Given the description of an element on the screen output the (x, y) to click on. 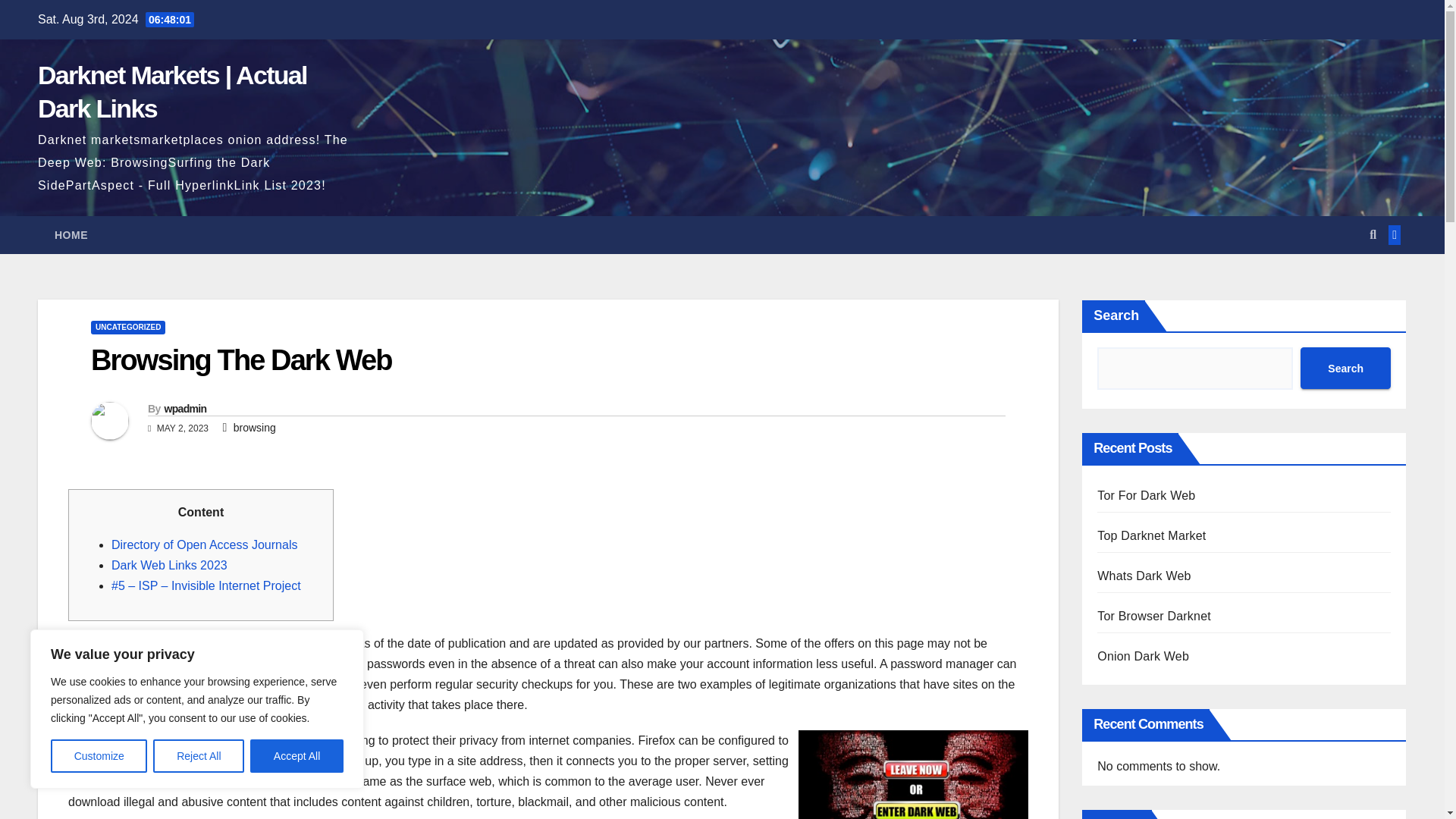
UNCATEGORIZED (127, 327)
Permalink to: Browsing The Dark Web (240, 359)
browsing (254, 427)
Home (70, 234)
Dark Web Links 2023 (169, 564)
Browsing The Dark Web (240, 359)
Accept All (296, 756)
Directory of Open Access Journals (204, 544)
Customize (98, 756)
HOME (70, 234)
wpadmin (184, 408)
Reject All (198, 756)
